Given the description of an element on the screen output the (x, y) to click on. 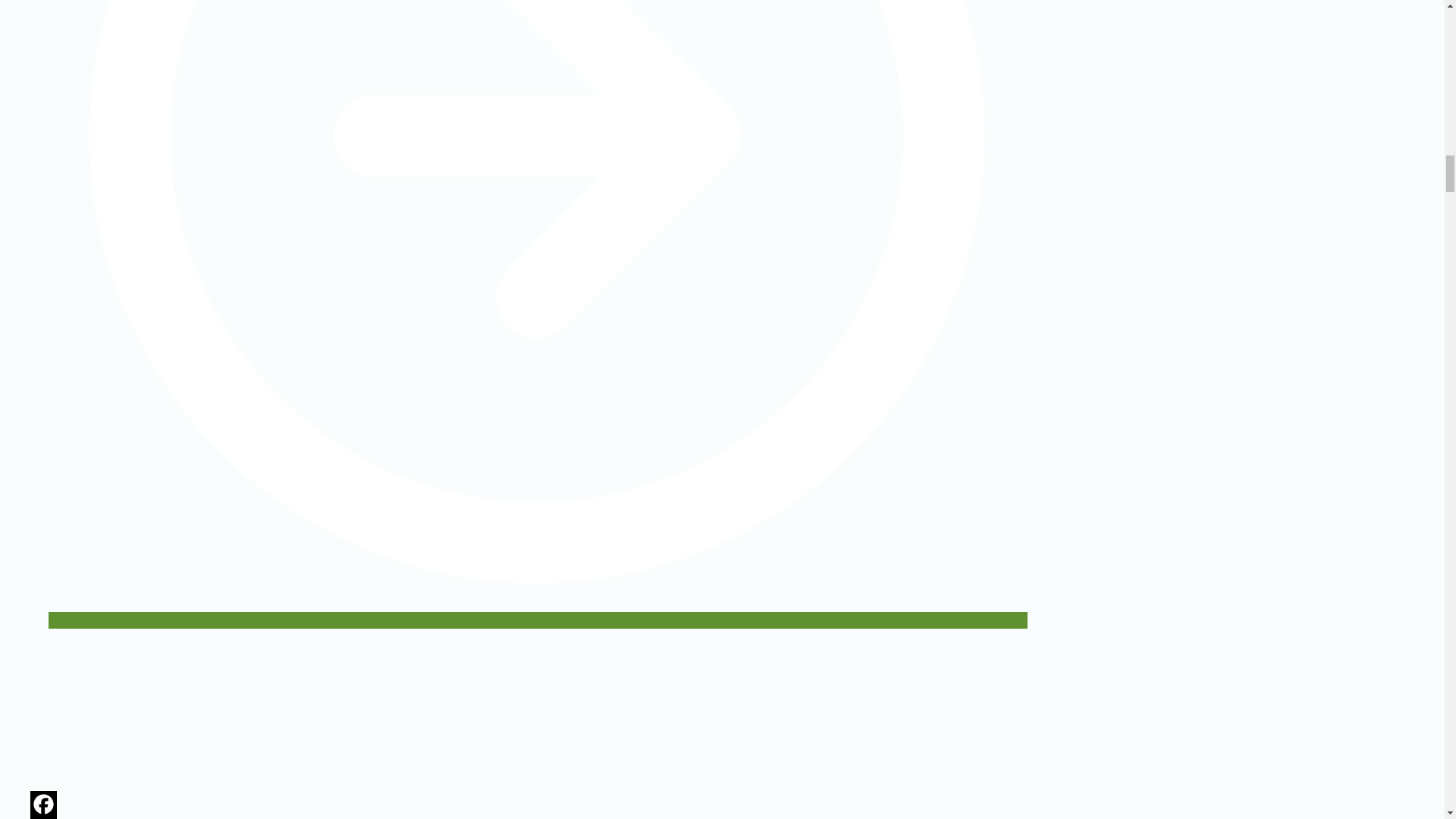
Twitter (43, 818)
Facebook (43, 804)
